Given the description of an element on the screen output the (x, y) to click on. 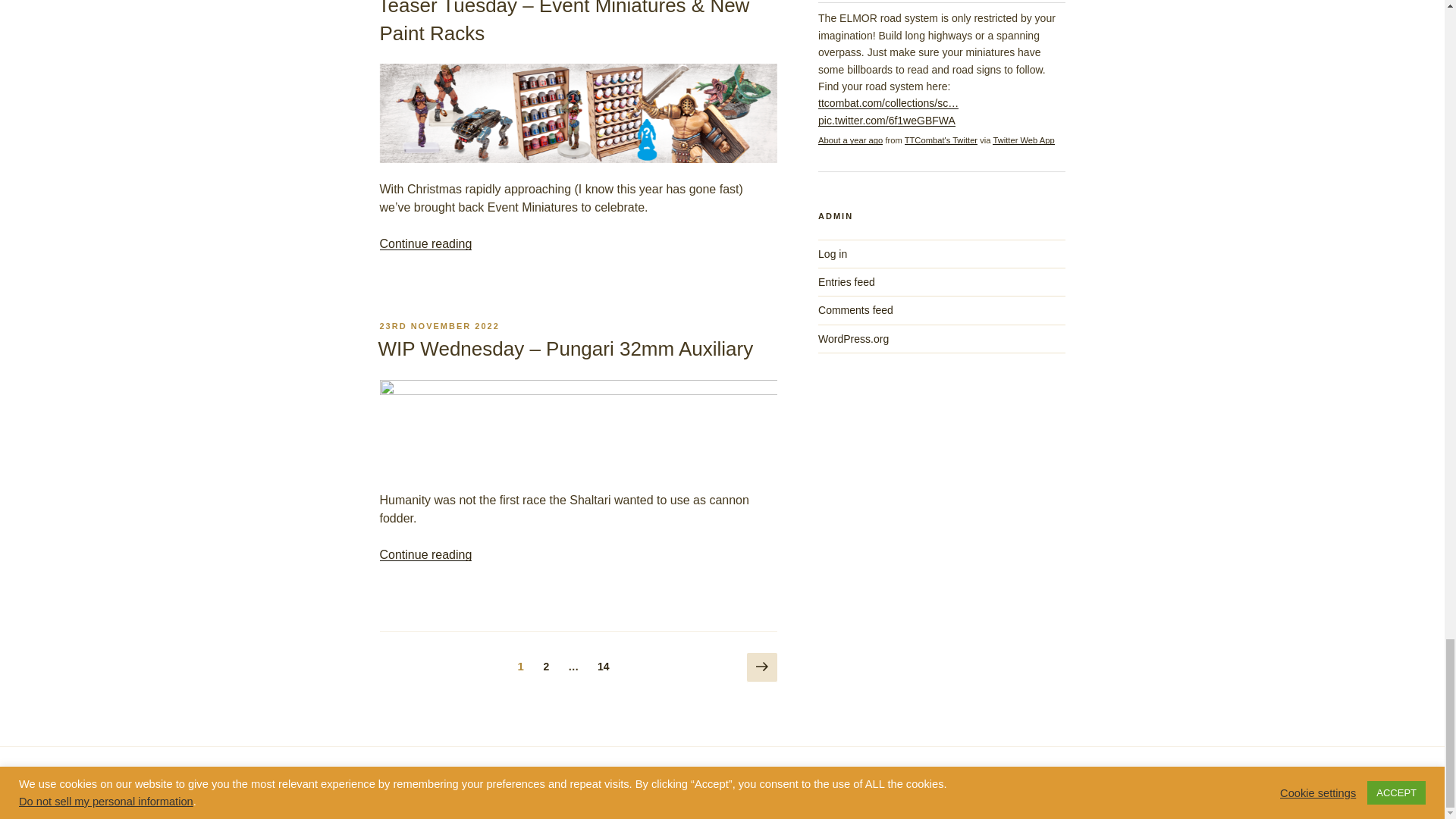
23RD NOVEMBER 2022 (438, 325)
TTCombat (940, 139)
